Given the description of an element on the screen output the (x, y) to click on. 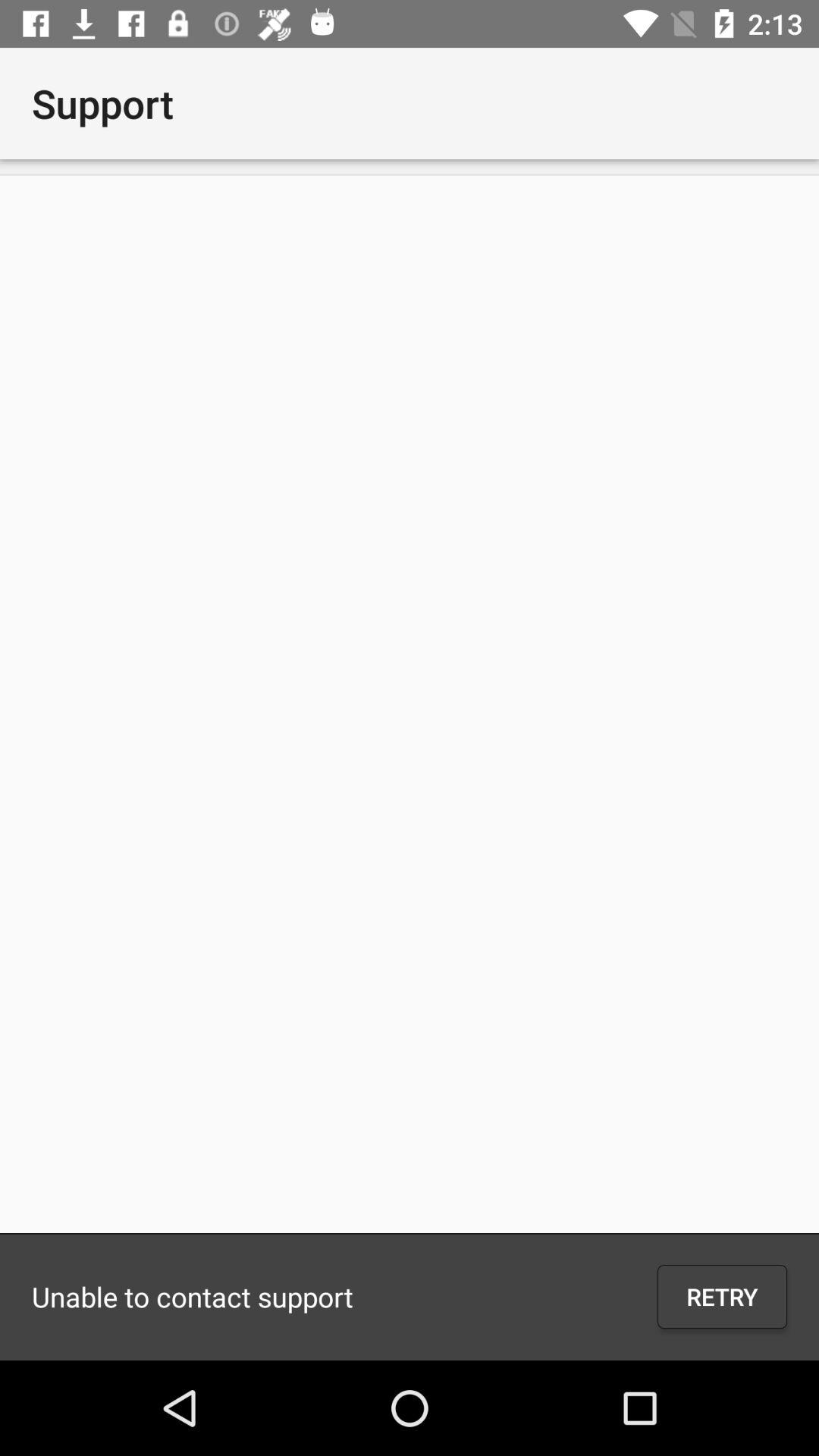
turn off icon at the bottom right corner (722, 1296)
